Given the description of an element on the screen output the (x, y) to click on. 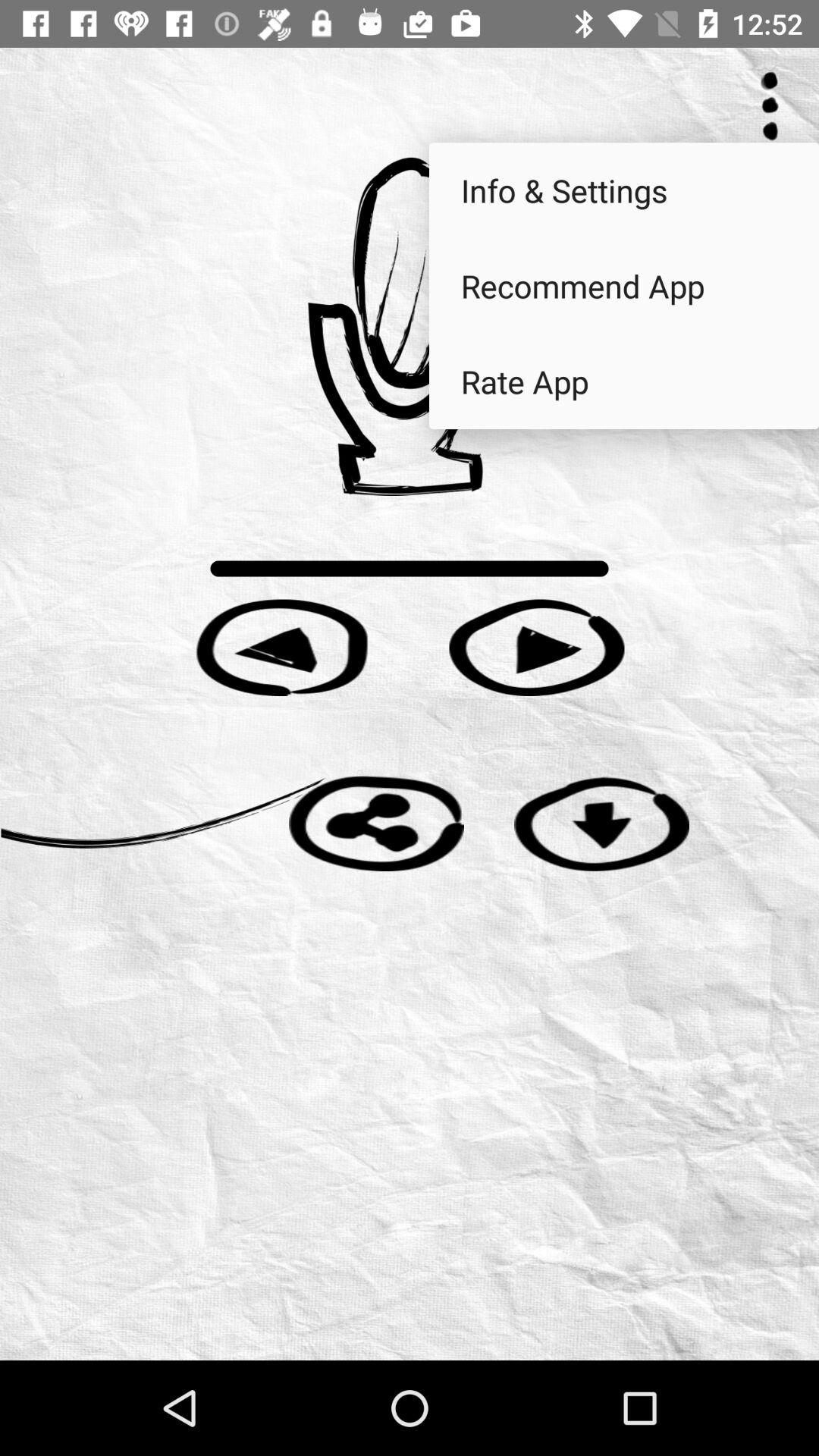
more information (769, 106)
